Given the description of an element on the screen output the (x, y) to click on. 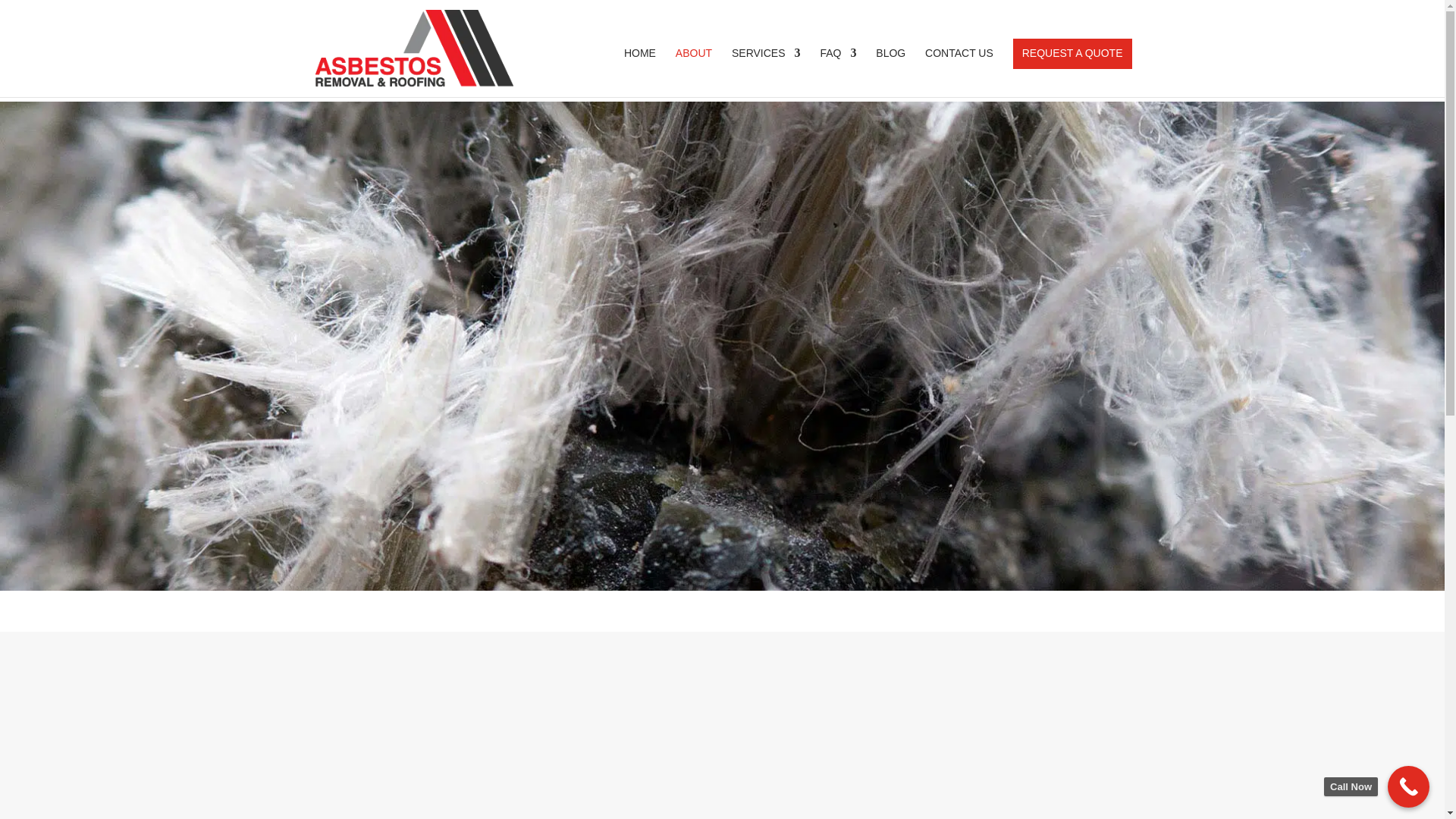
CONTACT US (958, 72)
REQUEST A QUOTE (1072, 72)
SERVICES (766, 72)
